Given the description of an element on the screen output the (x, y) to click on. 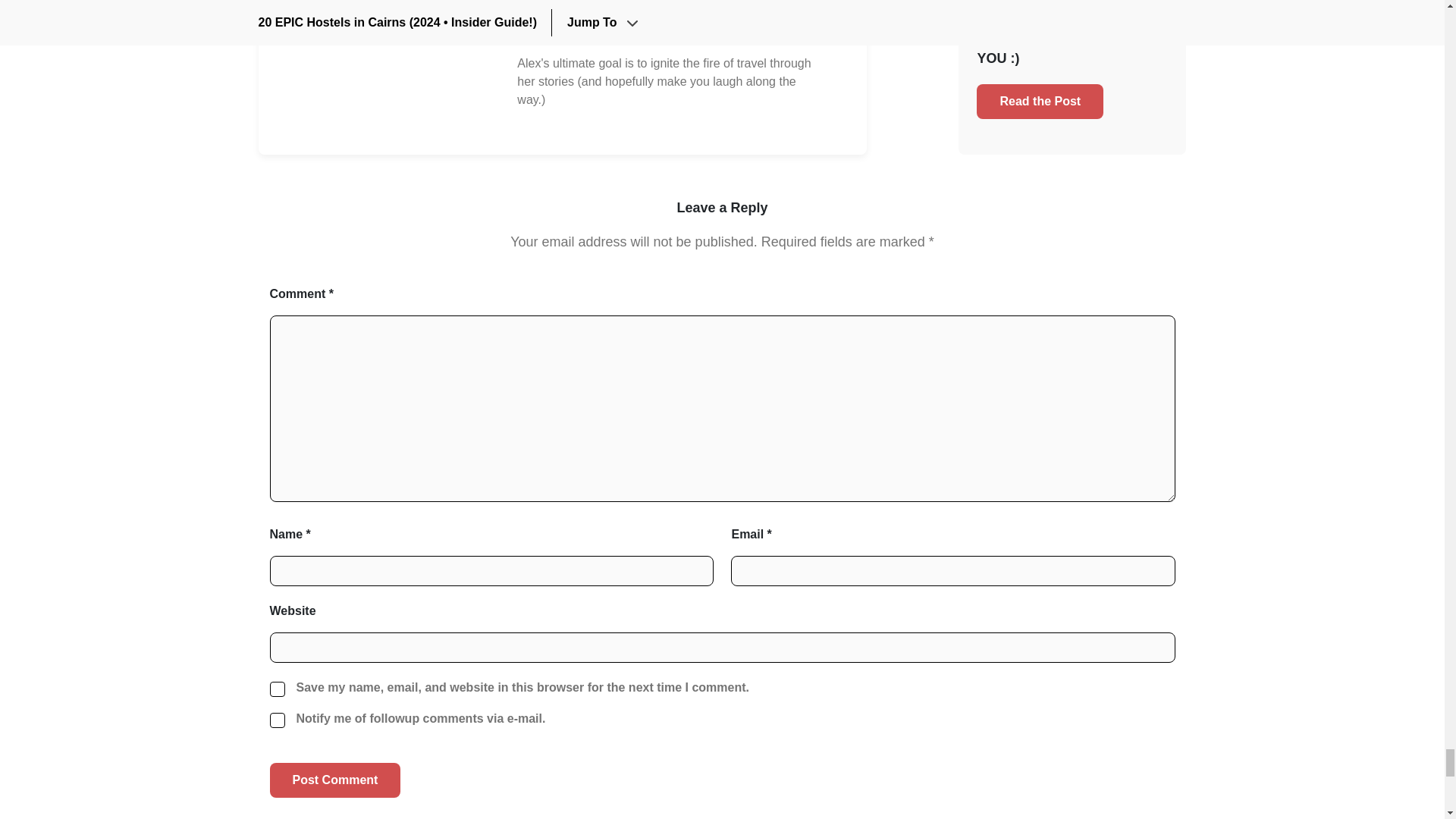
yes (277, 688)
yes (277, 720)
Post Comment (335, 779)
